Given the description of an element on the screen output the (x, y) to click on. 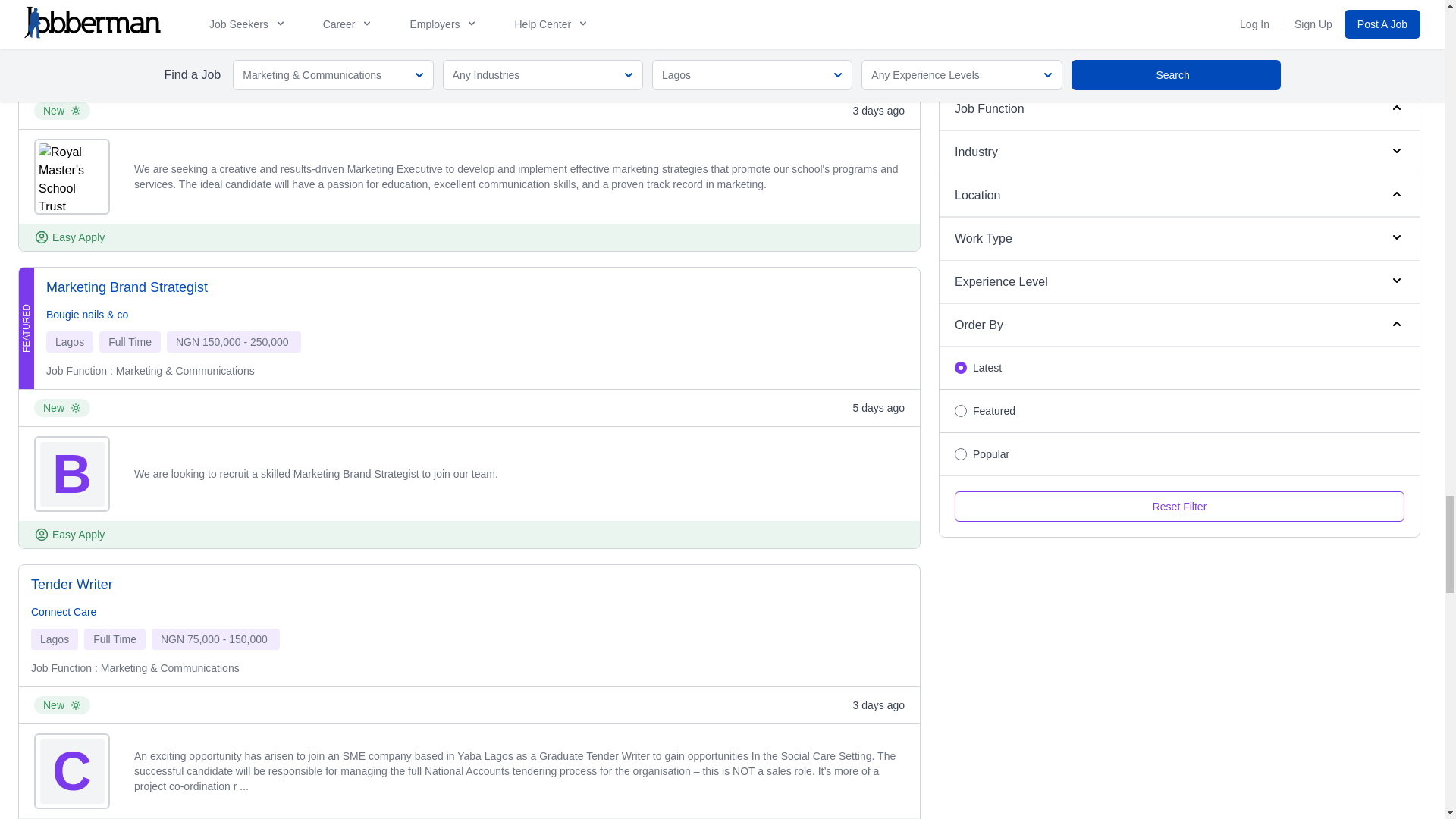
Marketing Brand Strategist (127, 287)
Tender Writer (71, 584)
